Given the description of an element on the screen output the (x, y) to click on. 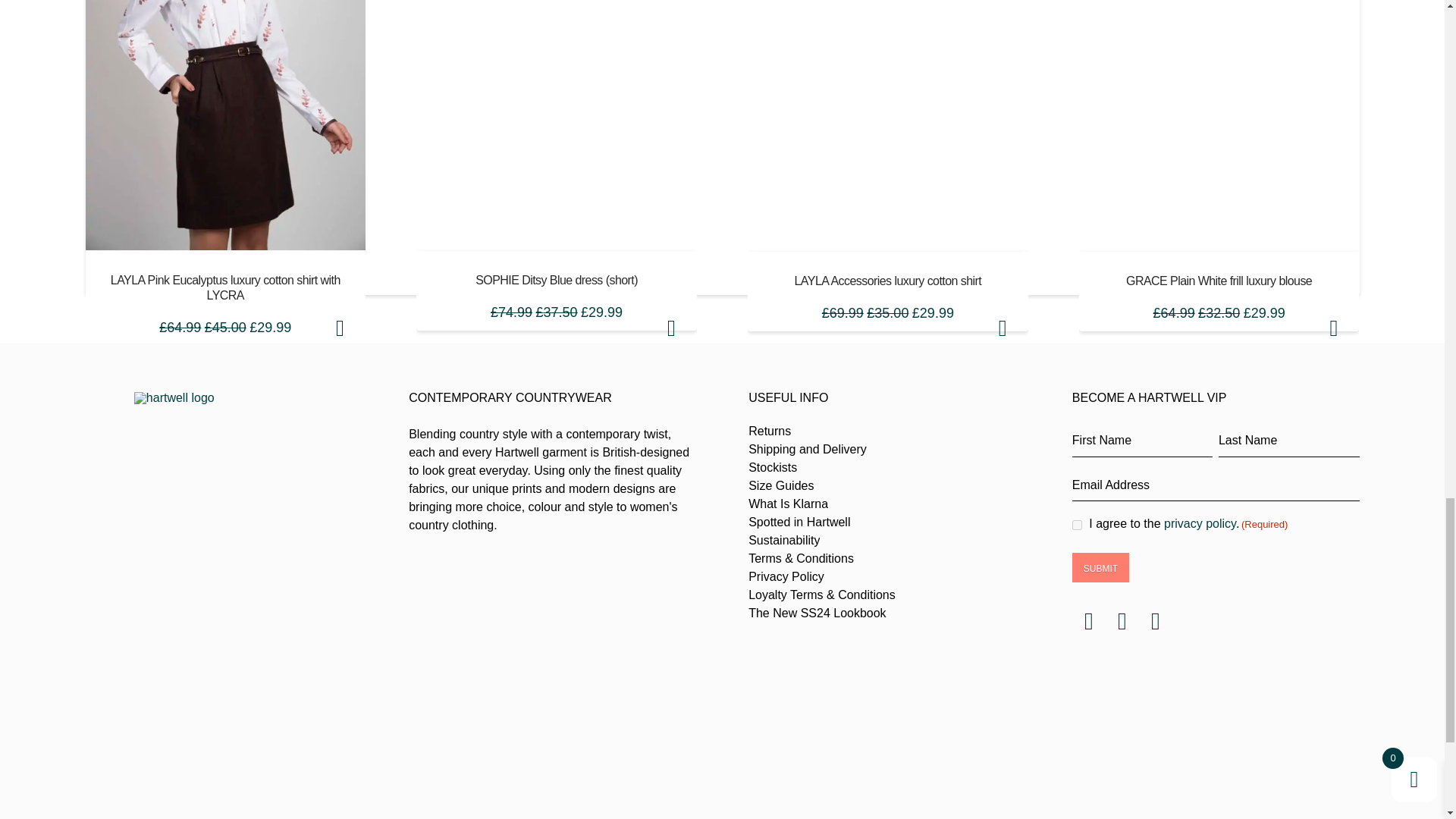
Submit (1100, 567)
1 (1076, 524)
